Given the description of an element on the screen output the (x, y) to click on. 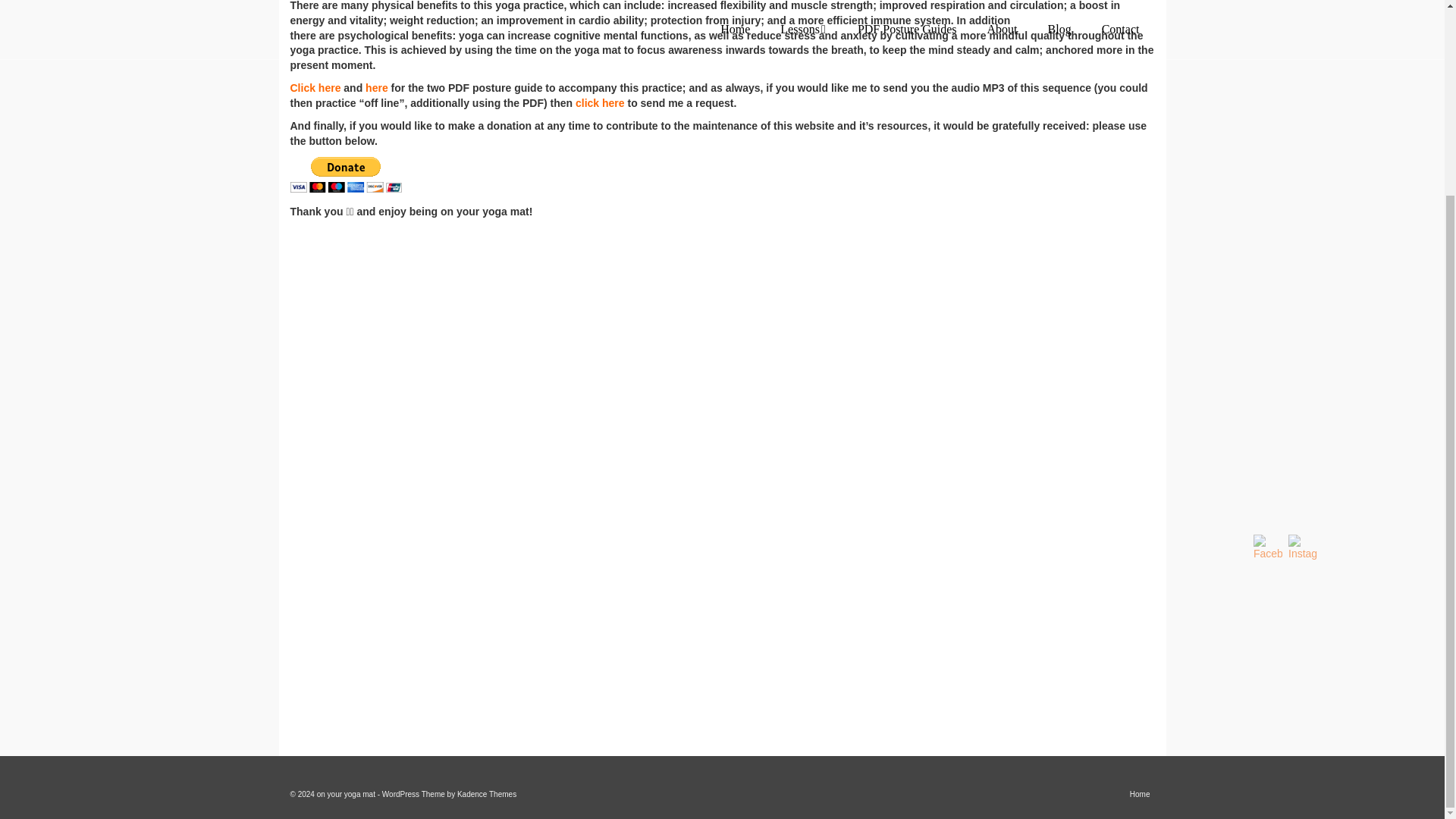
Click here (314, 87)
here (376, 87)
Facebook (1267, 547)
Home (1139, 794)
Kadence Themes (486, 794)
Instagram (1302, 547)
click here (599, 102)
